Given the description of an element on the screen output the (x, y) to click on. 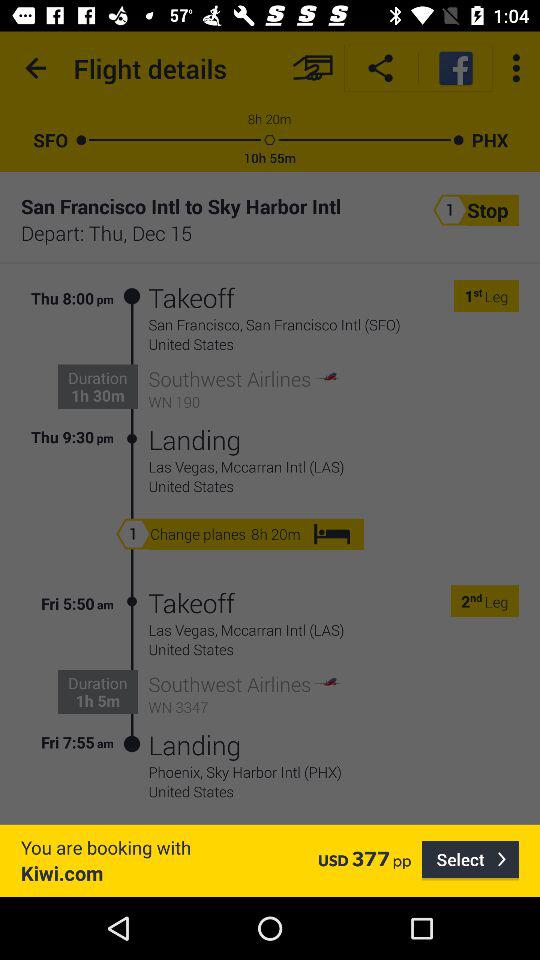
open item above united states item (333, 771)
